Given the description of an element on the screen output the (x, y) to click on. 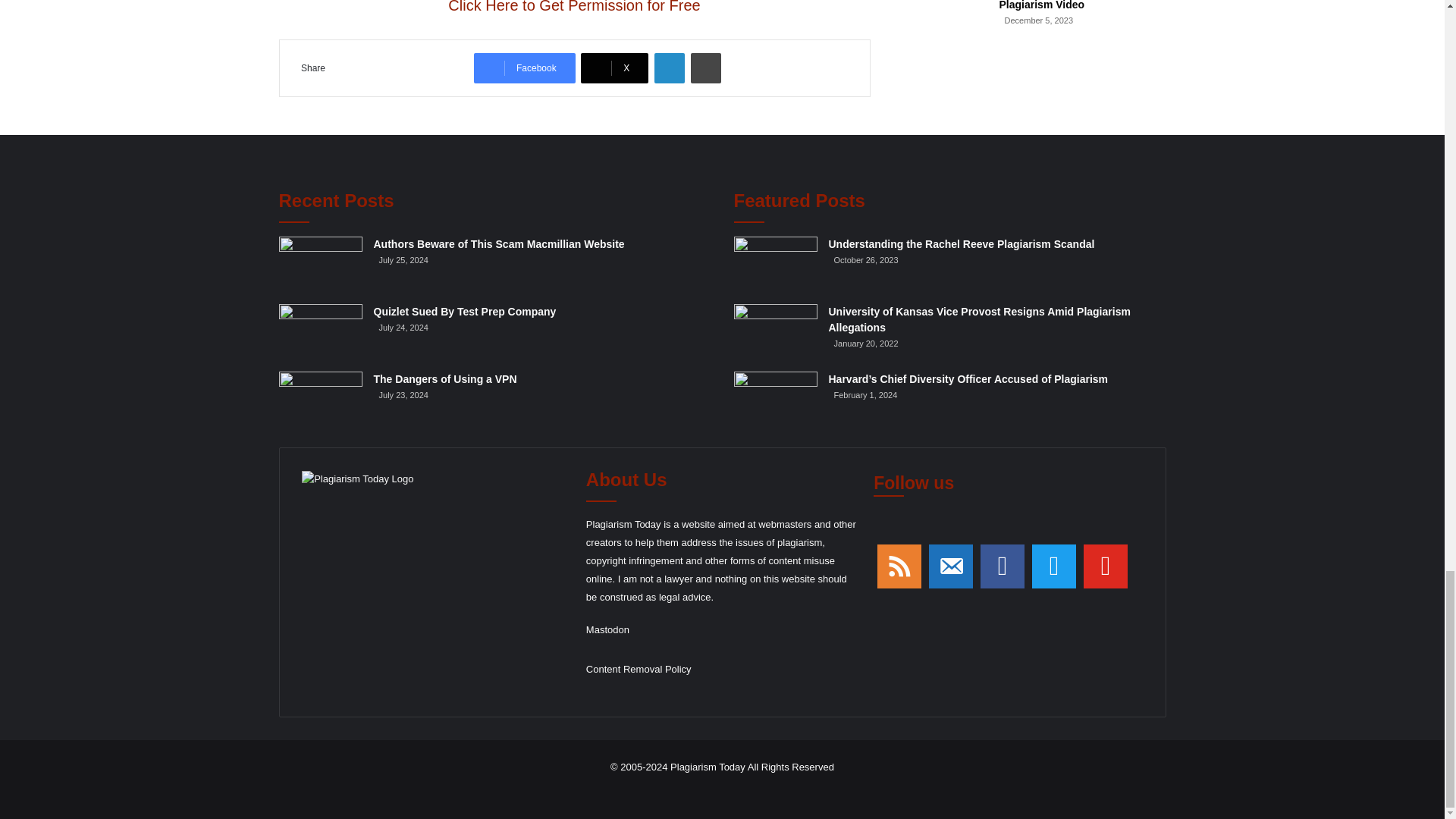
Facebook (524, 68)
LinkedIn (668, 68)
LinkedIn (668, 68)
Facebook (524, 68)
X (613, 68)
Print (705, 68)
Default Label (898, 566)
Default Label (950, 566)
Click Here to Get Permission for Free (574, 6)
X (613, 68)
